Given the description of an element on the screen output the (x, y) to click on. 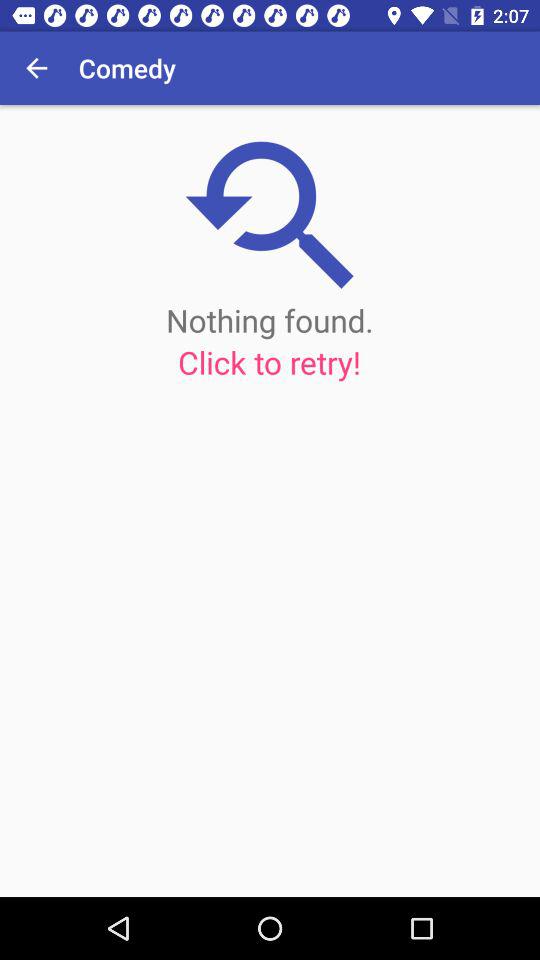
open icon next to the comedy icon (36, 68)
